Given the description of an element on the screen output the (x, y) to click on. 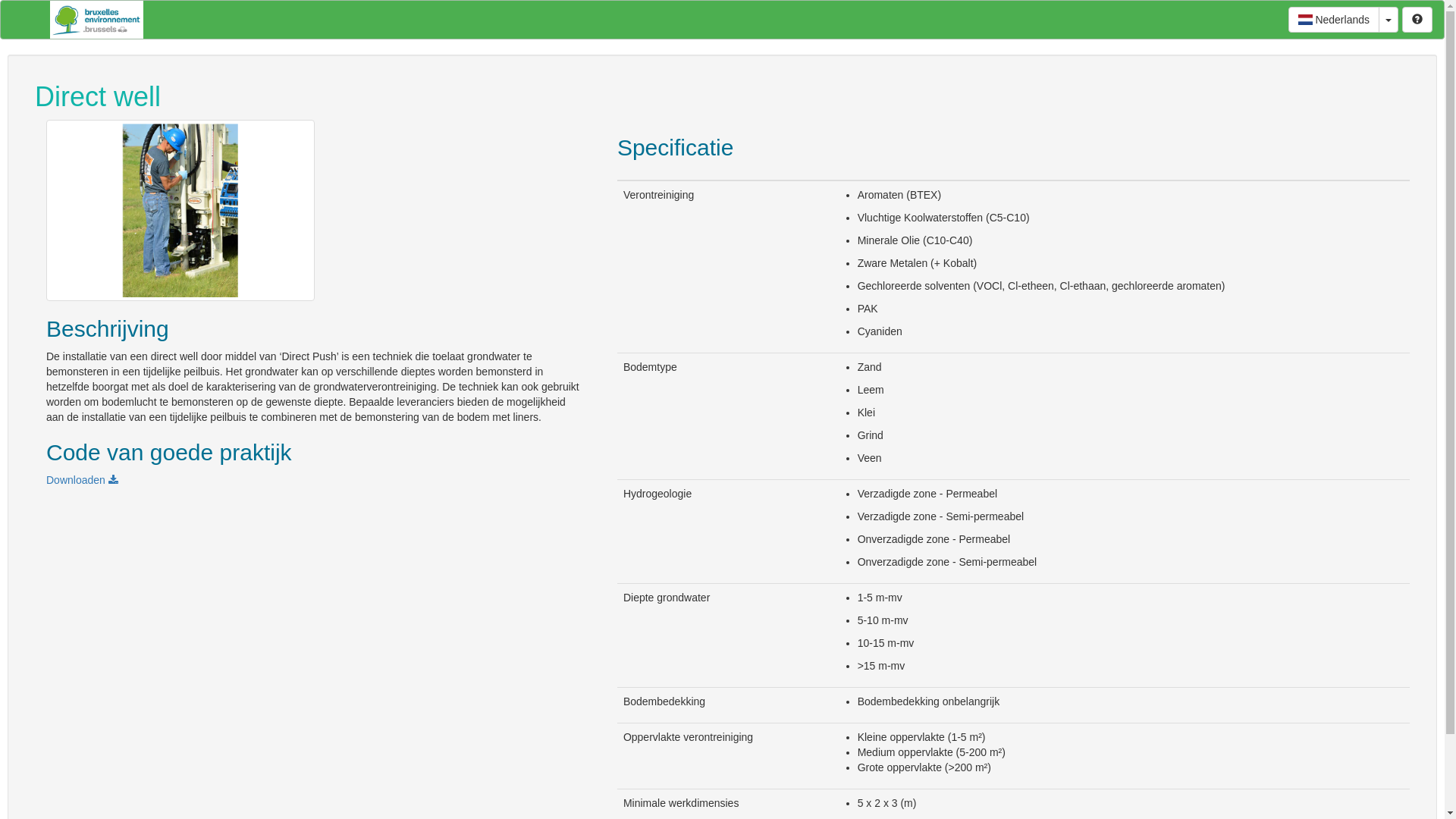
Downloaden Element type: text (82, 479)
Nederlands Element type: text (1333, 19)
